Given the description of an element on the screen output the (x, y) to click on. 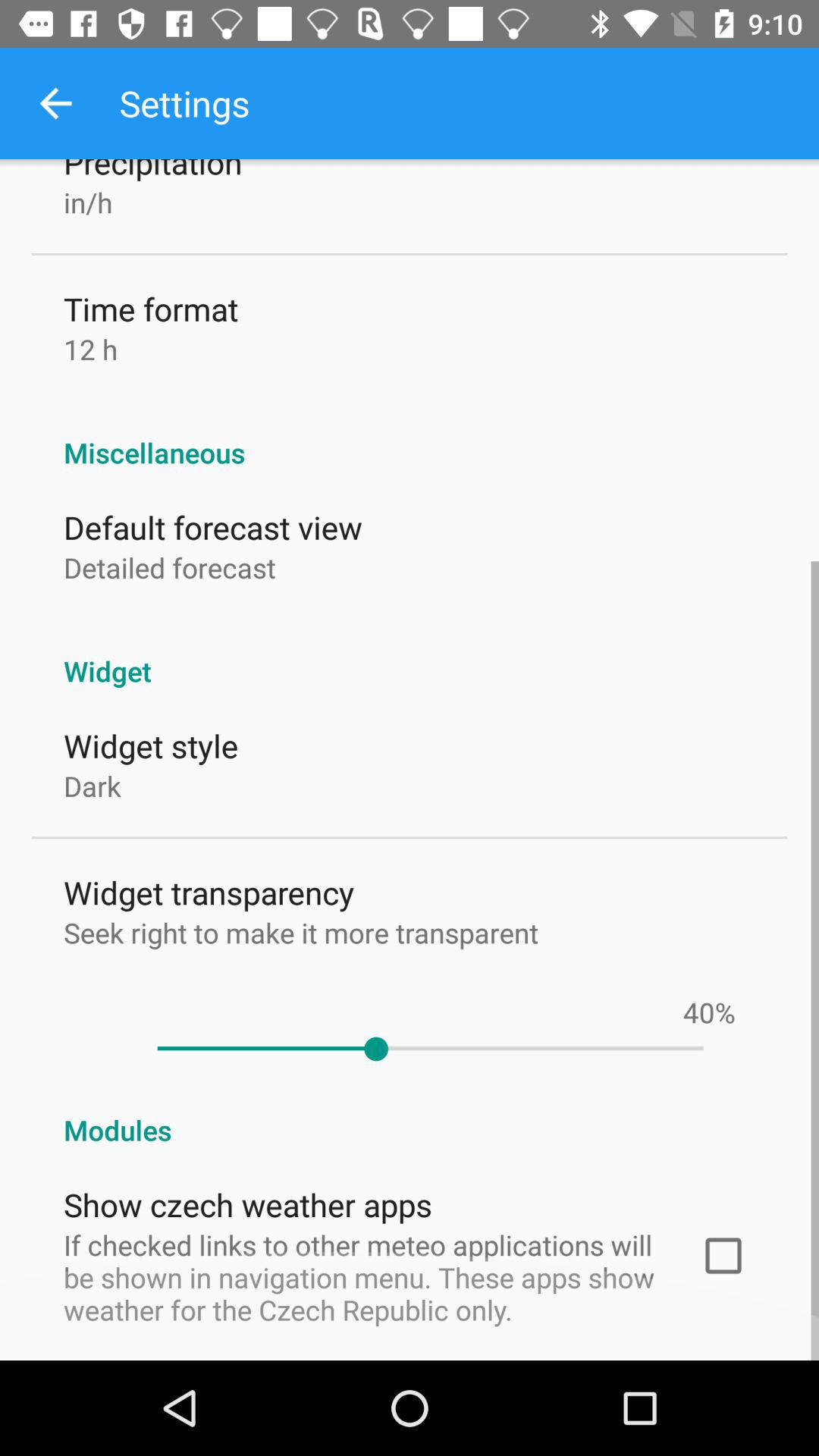
flip until the 12 h (90, 348)
